Given the description of an element on the screen output the (x, y) to click on. 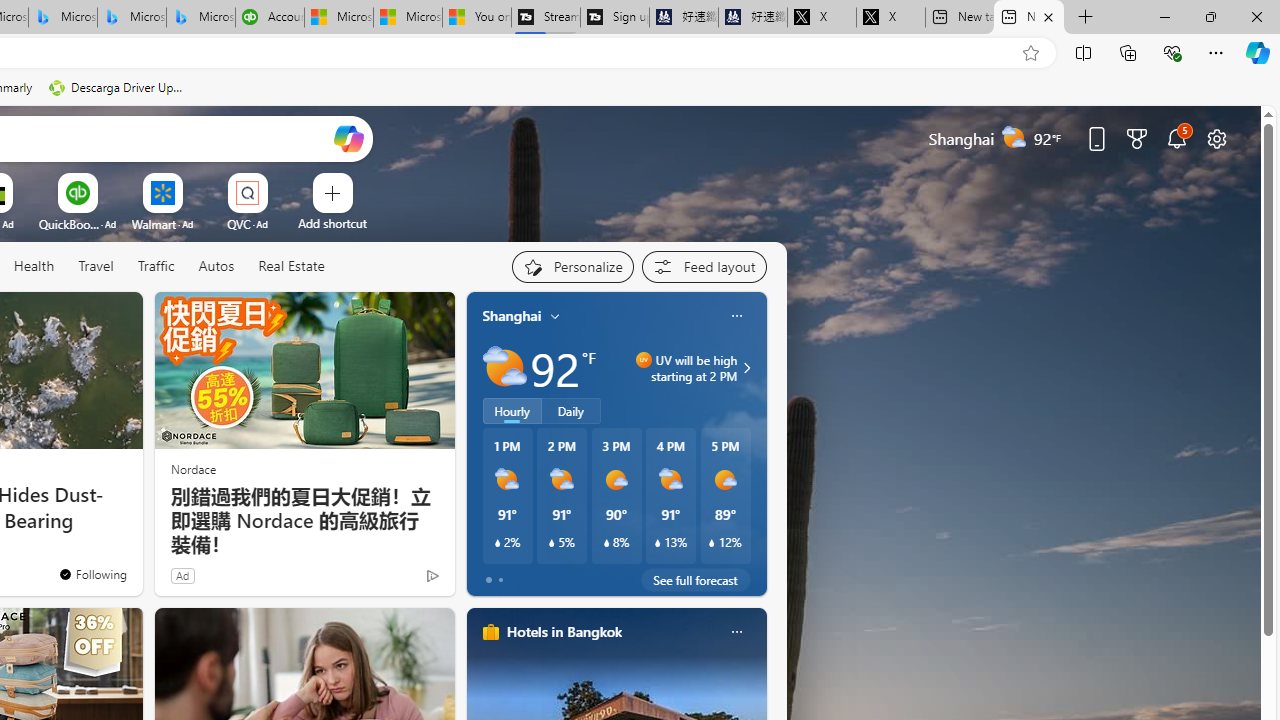
Travel (95, 267)
Daily (571, 411)
Hourly (511, 411)
You're following Newsweek (92, 573)
Class: weather-arrow-glyph (746, 367)
Partly sunny (504, 368)
Health (33, 267)
tab-1 (500, 579)
